Given the description of an element on the screen output the (x, y) to click on. 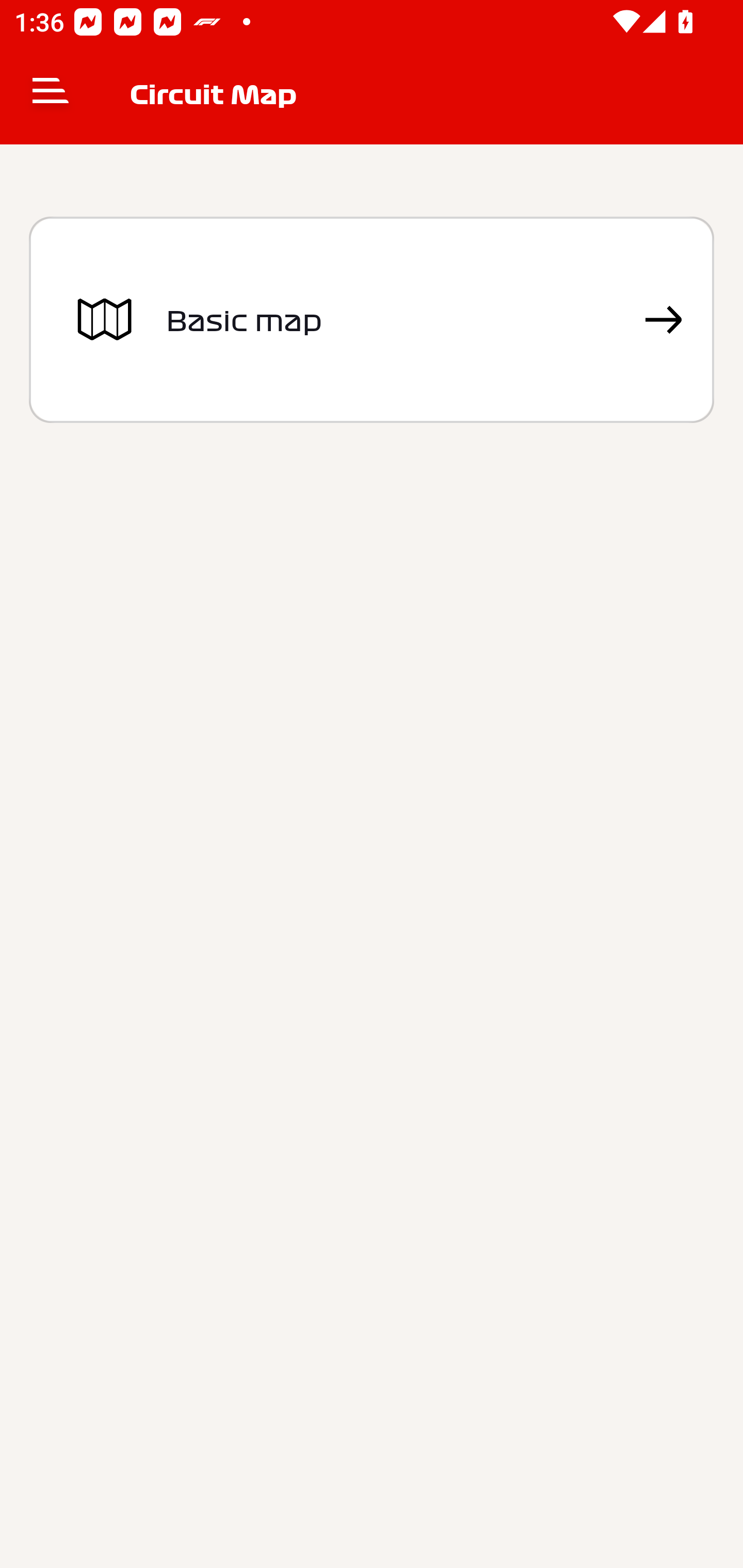
Navigate up (50, 93)
Basic map (371, 319)
